Given the description of an element on the screen output the (x, y) to click on. 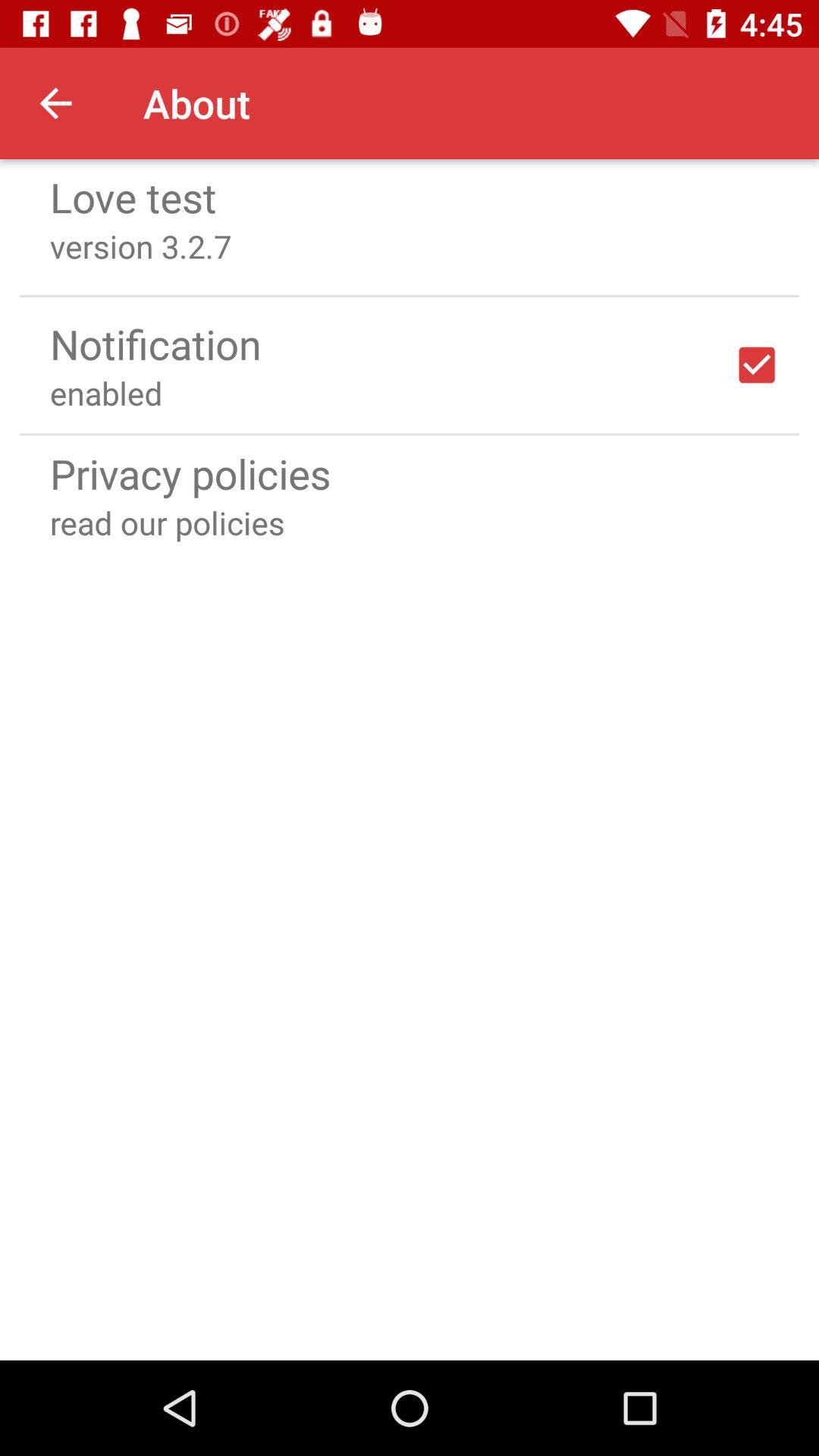
toggle selection (756, 364)
